Given the description of an element on the screen output the (x, y) to click on. 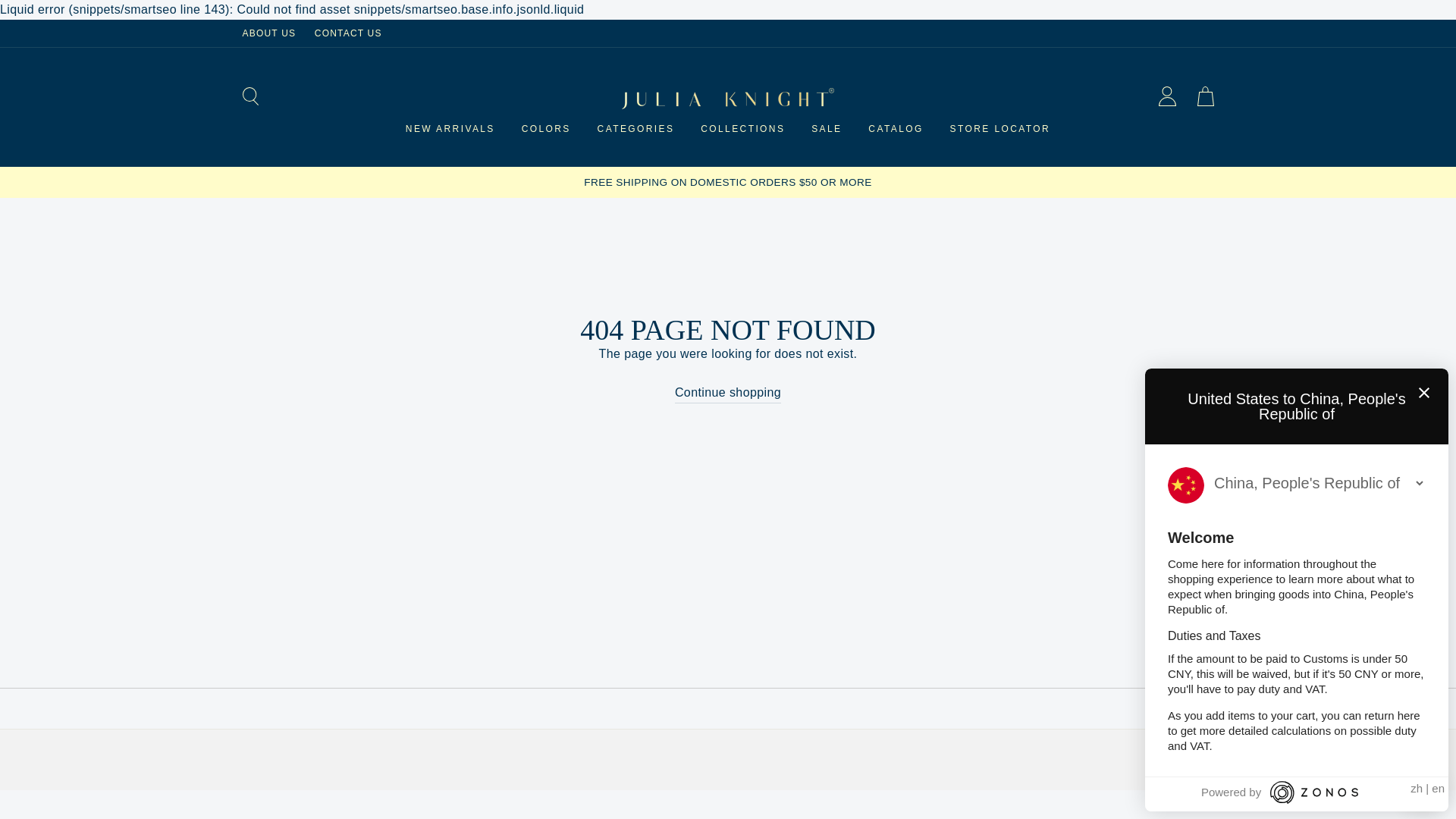
CATEGORIES (635, 129)
ACCOUNT (1167, 99)
Select your country (1318, 482)
CONTACT US (348, 33)
COLORS (546, 129)
CART (1205, 98)
SEARCH (249, 98)
NEW ARRIVALS (450, 129)
ABOUT US (269, 33)
